Given the description of an element on the screen output the (x, y) to click on. 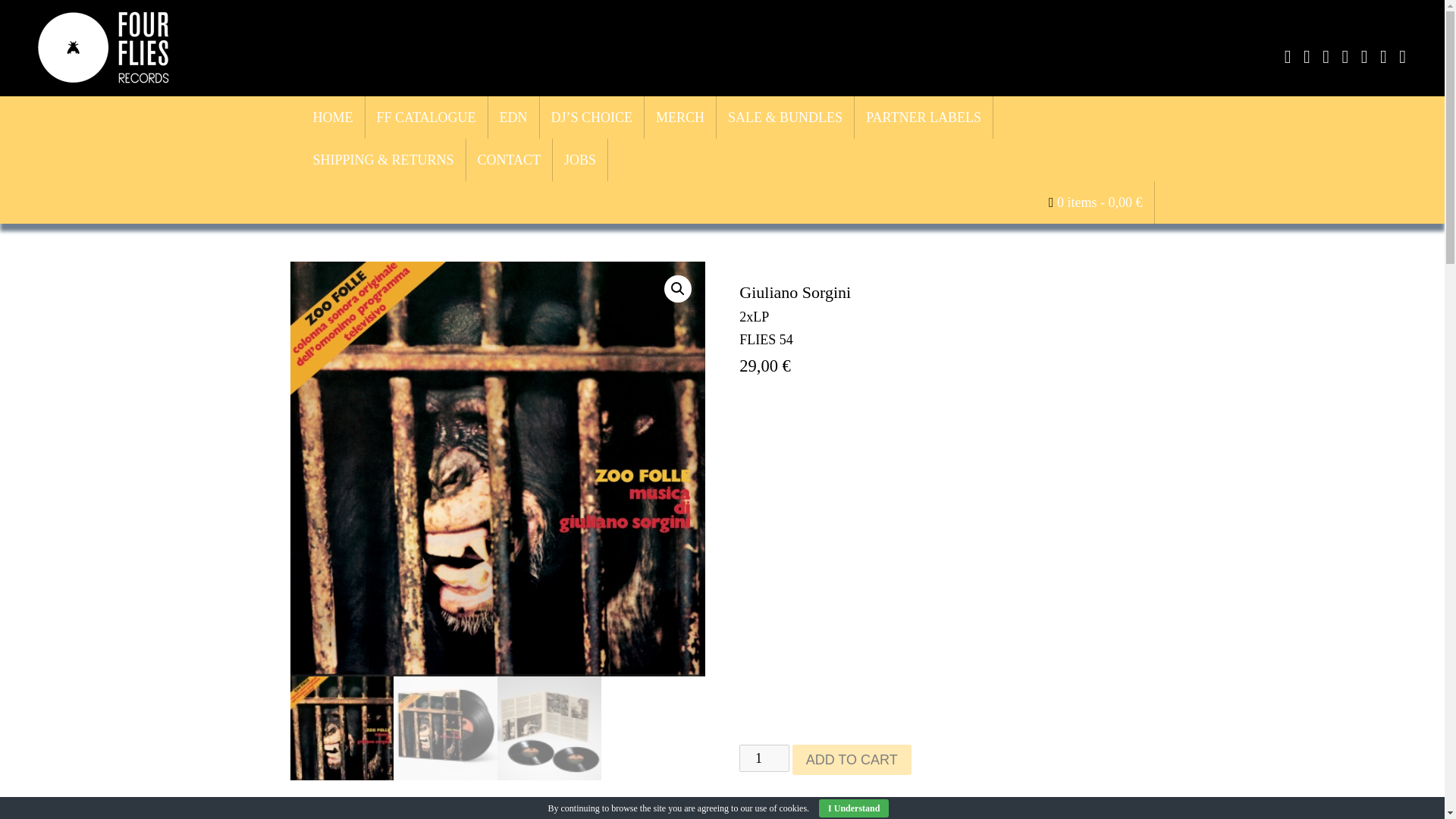
HOME (333, 117)
EDN (513, 117)
HOME (333, 117)
CONTACT (509, 159)
FF CATALOGUE (426, 117)
CONTACT (509, 159)
MERCH (680, 117)
Start shopping (1095, 201)
PARTNER LABELS (923, 117)
PARTNER LABELS (923, 117)
JOBS (580, 159)
JOBS (580, 159)
FF CATALOGUE (426, 117)
EDN (513, 117)
ADD TO CART (851, 759)
